Given the description of an element on the screen output the (x, y) to click on. 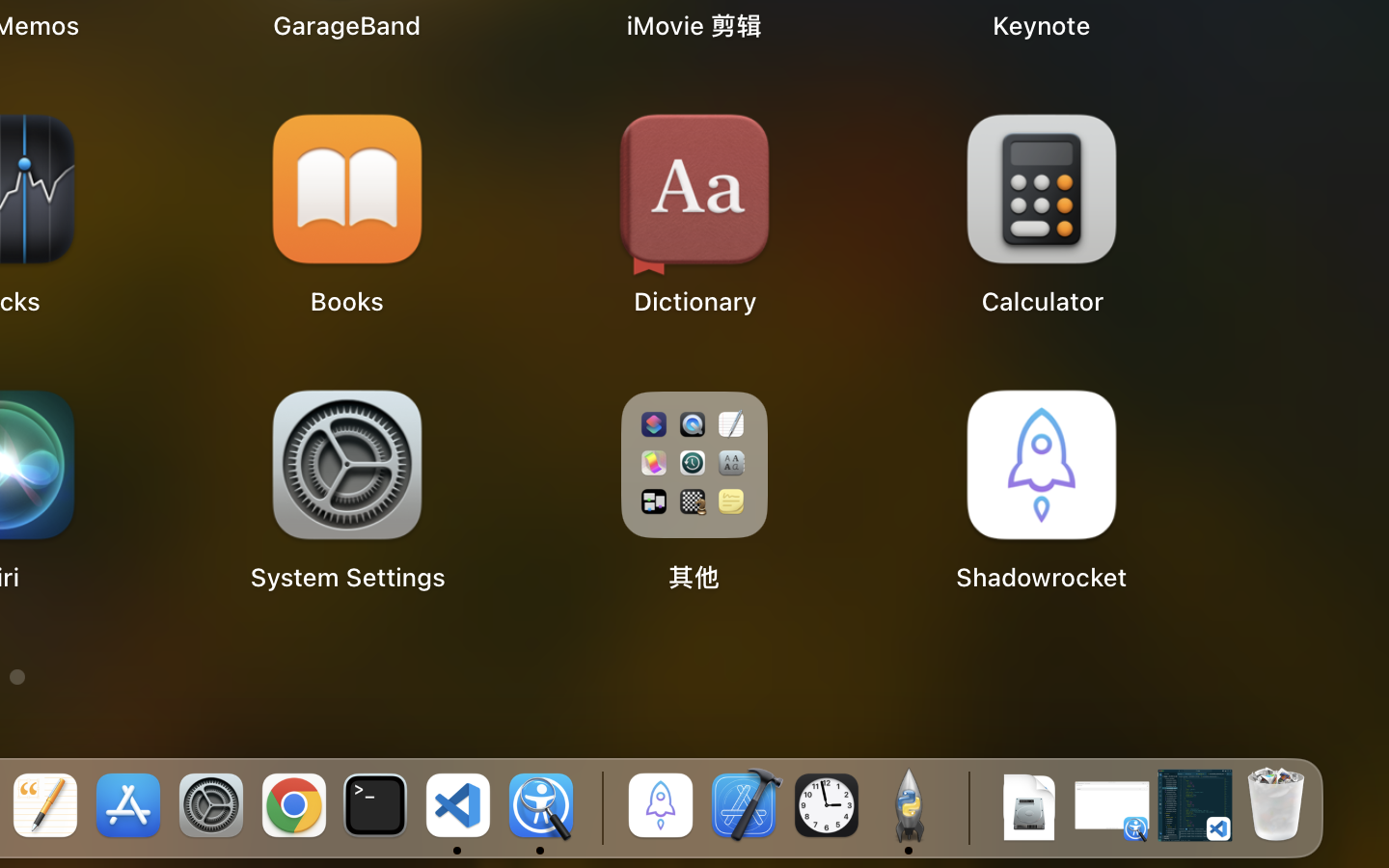
0.4285714328289032 Element type: AXDockItem (598, 807)
